Given the description of an element on the screen output the (x, y) to click on. 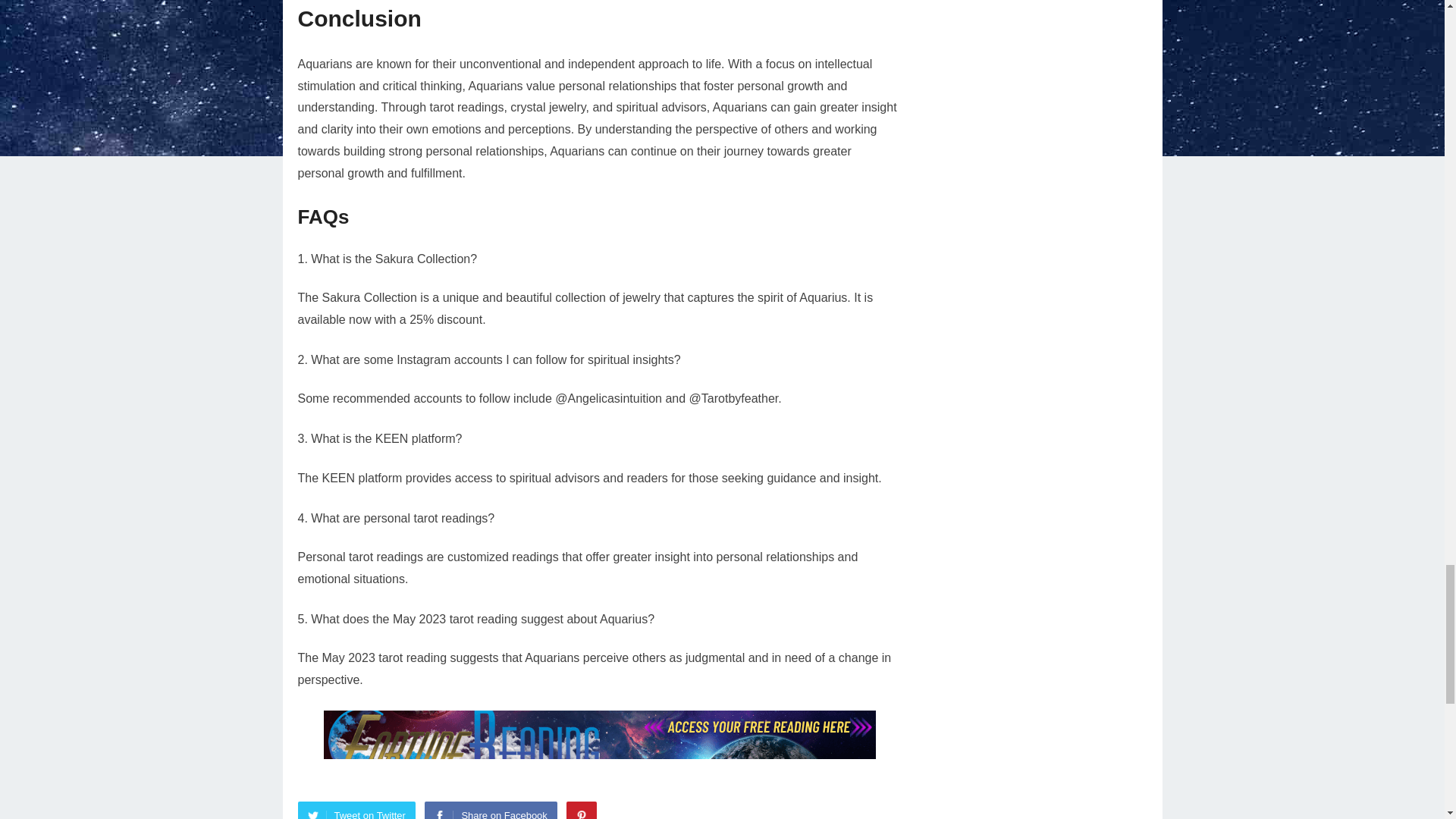
Pinterest (581, 810)
Tweet on Twitter (355, 810)
Share on Facebook (490, 810)
